Given the description of an element on the screen output the (x, y) to click on. 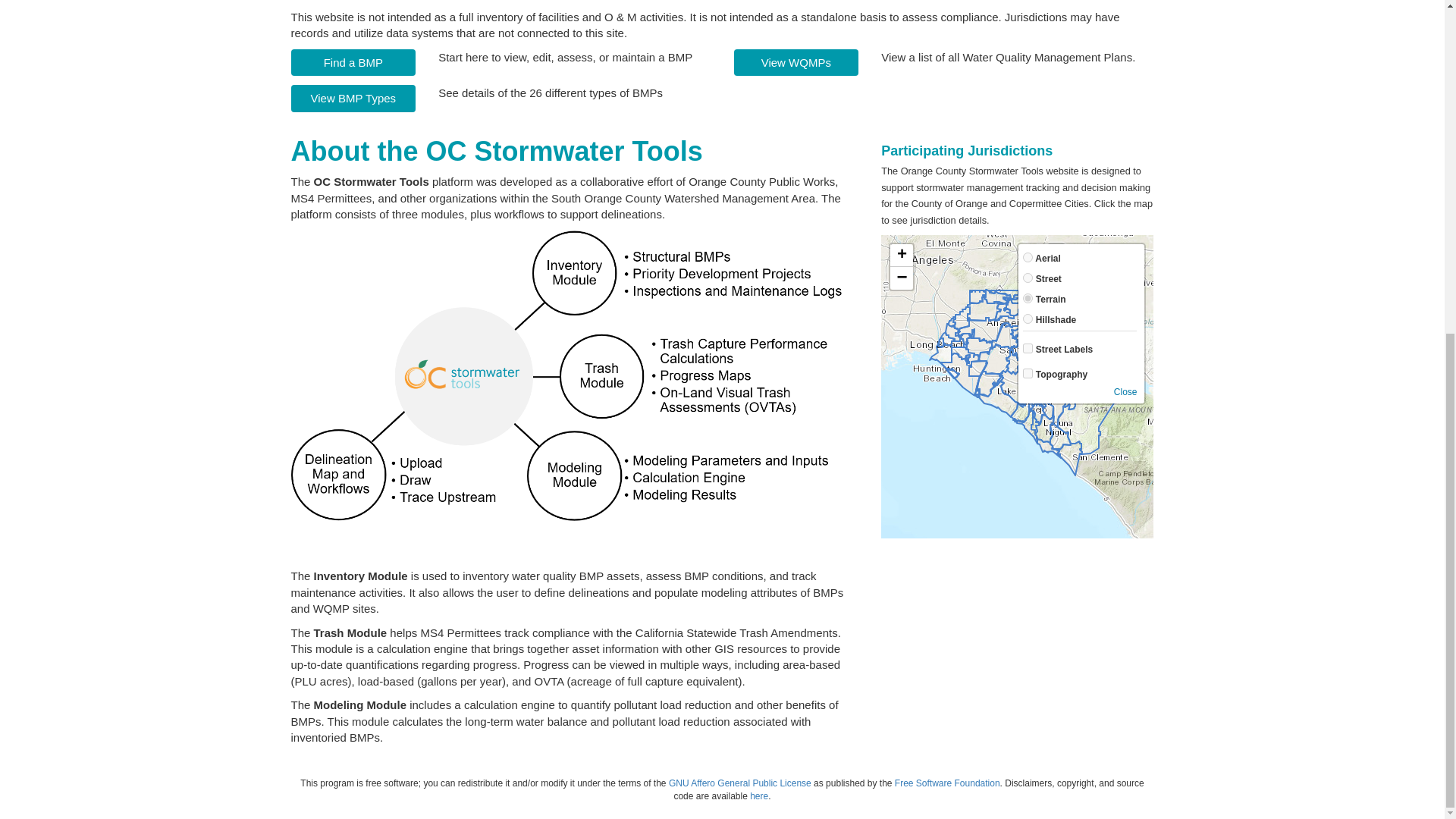
here (758, 796)
View WQMPs (796, 62)
GNU Affero General Public License (739, 783)
on (1027, 298)
View BMP Types (353, 98)
Zoom in (900, 255)
Free Software Foundation (947, 783)
Zoom out (900, 277)
on (1027, 277)
on (1027, 373)
on (1027, 257)
on (1027, 347)
Close (1125, 391)
on (1027, 318)
Find a BMP (353, 62)
